Given the description of an element on the screen output the (x, y) to click on. 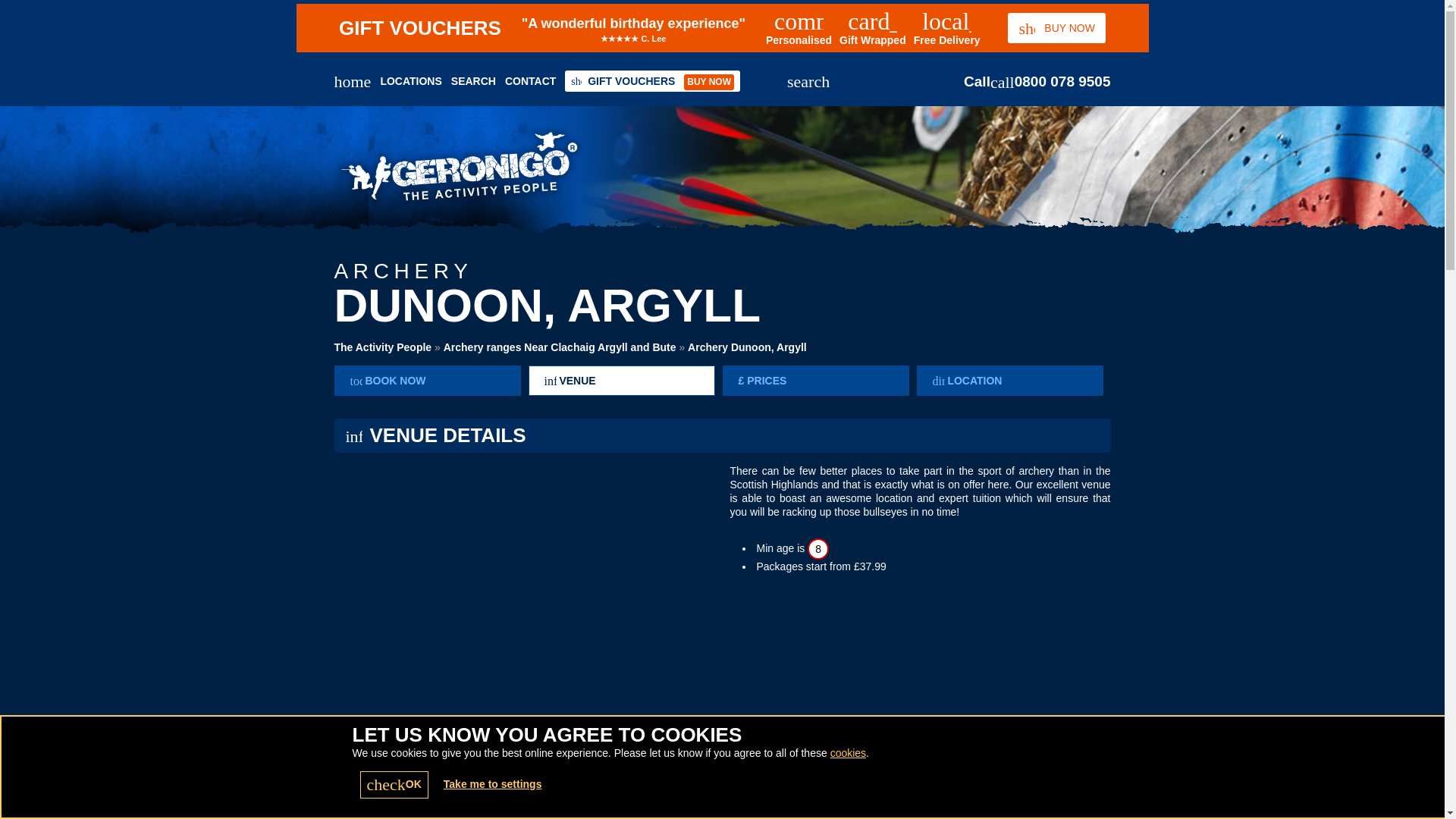
SEARCH (473, 80)
information VENUE (620, 380)
Archery range Near Clachaig Argyll and Bute (560, 346)
The Activity People (381, 346)
Book Now (426, 380)
today BOOK NOW (426, 380)
Archery Dunoon, Argyll (746, 346)
Archery ranges Near Clachaig Argyll and Bute (560, 346)
The Activity People (381, 346)
venue Details (620, 380)
